Given the description of an element on the screen output the (x, y) to click on. 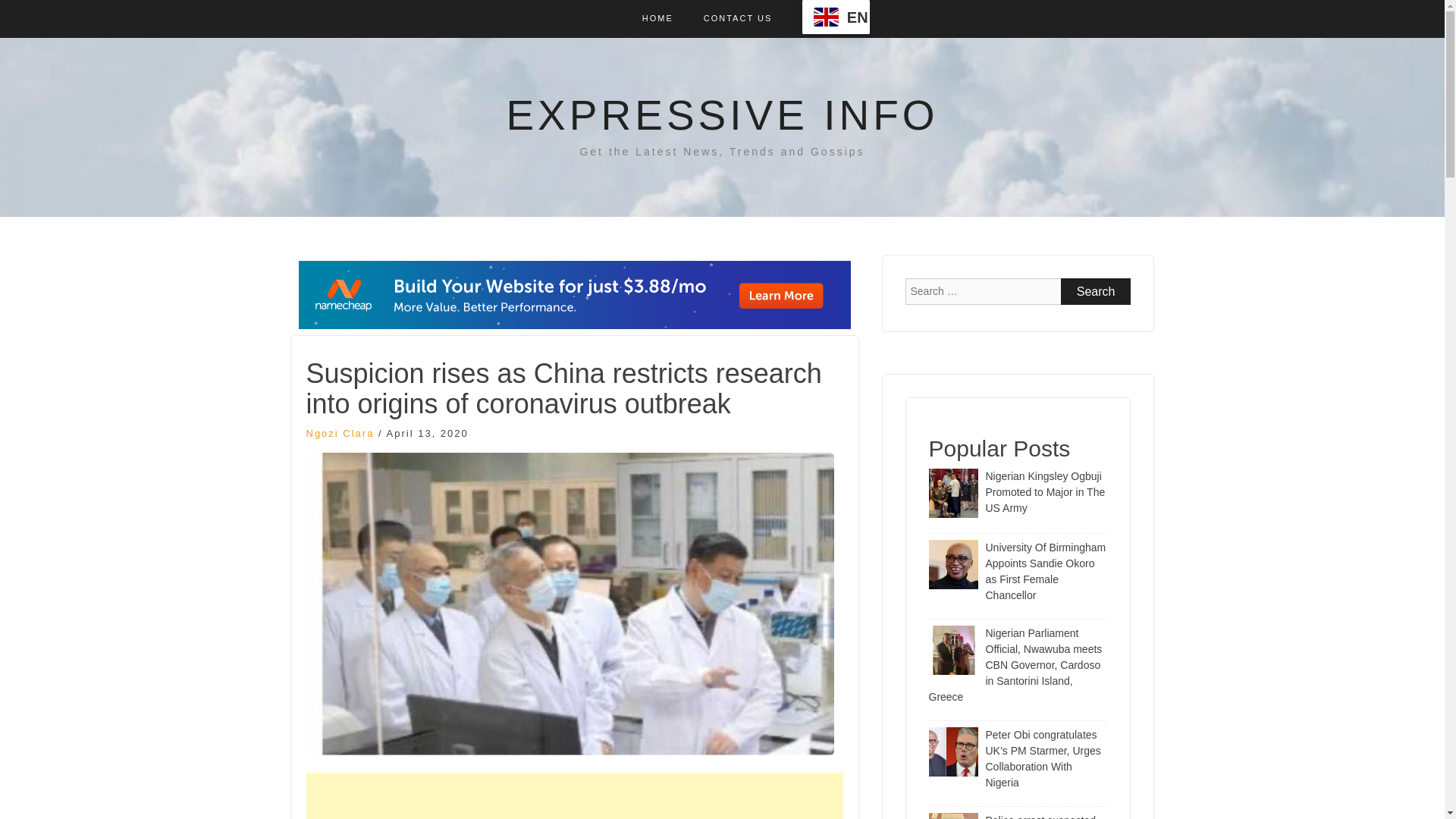
Search (1096, 291)
CONTACT US (738, 18)
Advertisement (574, 796)
Search (1096, 291)
